Given the description of an element on the screen output the (x, y) to click on. 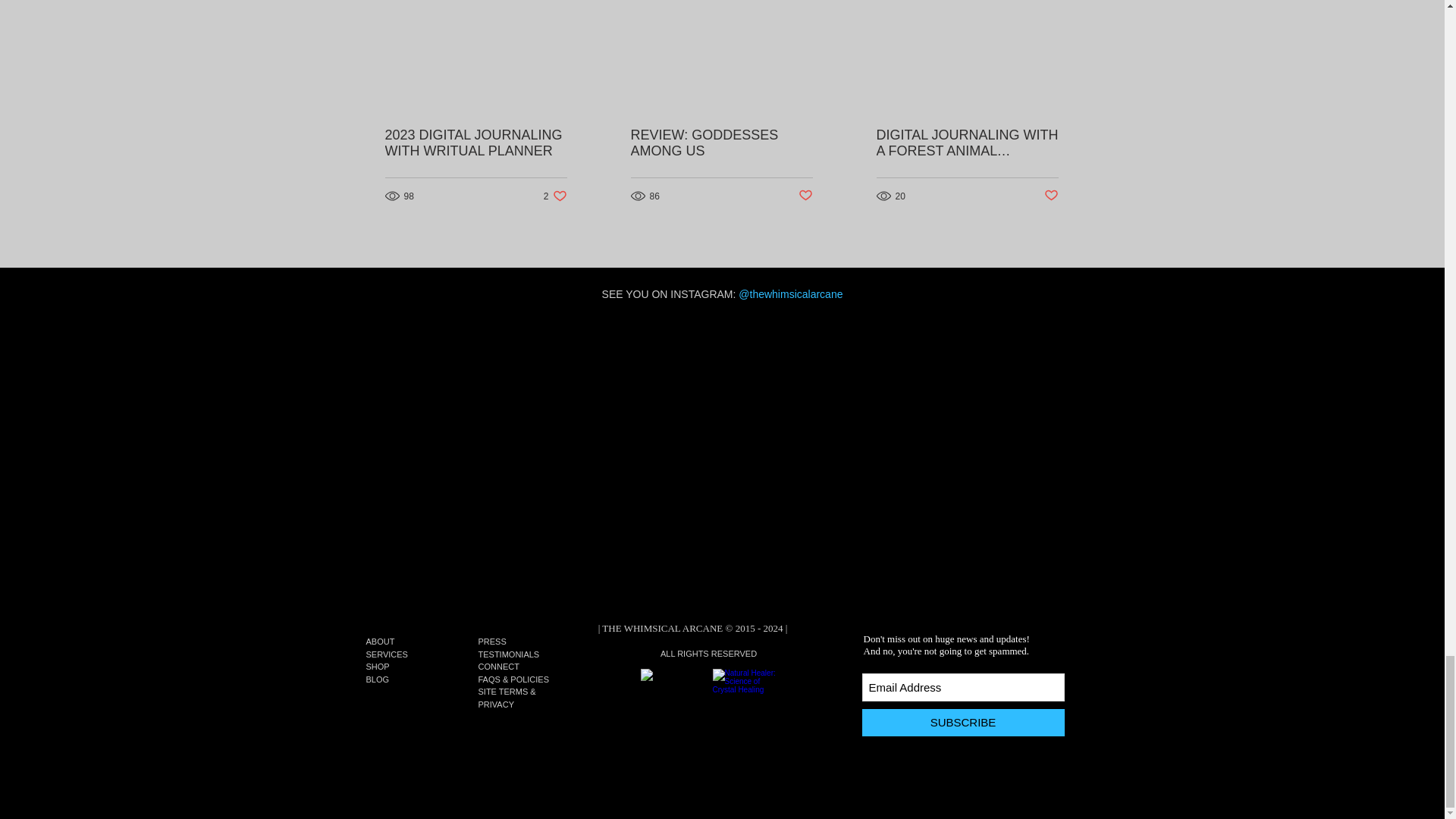
Post not marked as liked (1050, 195)
Natural Healer: Science of Crystal Healing (745, 700)
2023 DIGITAL JOURNALING WITH WRITUAL PLANNER (476, 142)
Post not marked as liked (804, 195)
REVIEW: GODDESSES AMONG US (721, 142)
Natural Healer Advanced Reiki Master Teacher (555, 196)
